Given the description of an element on the screen output the (x, y) to click on. 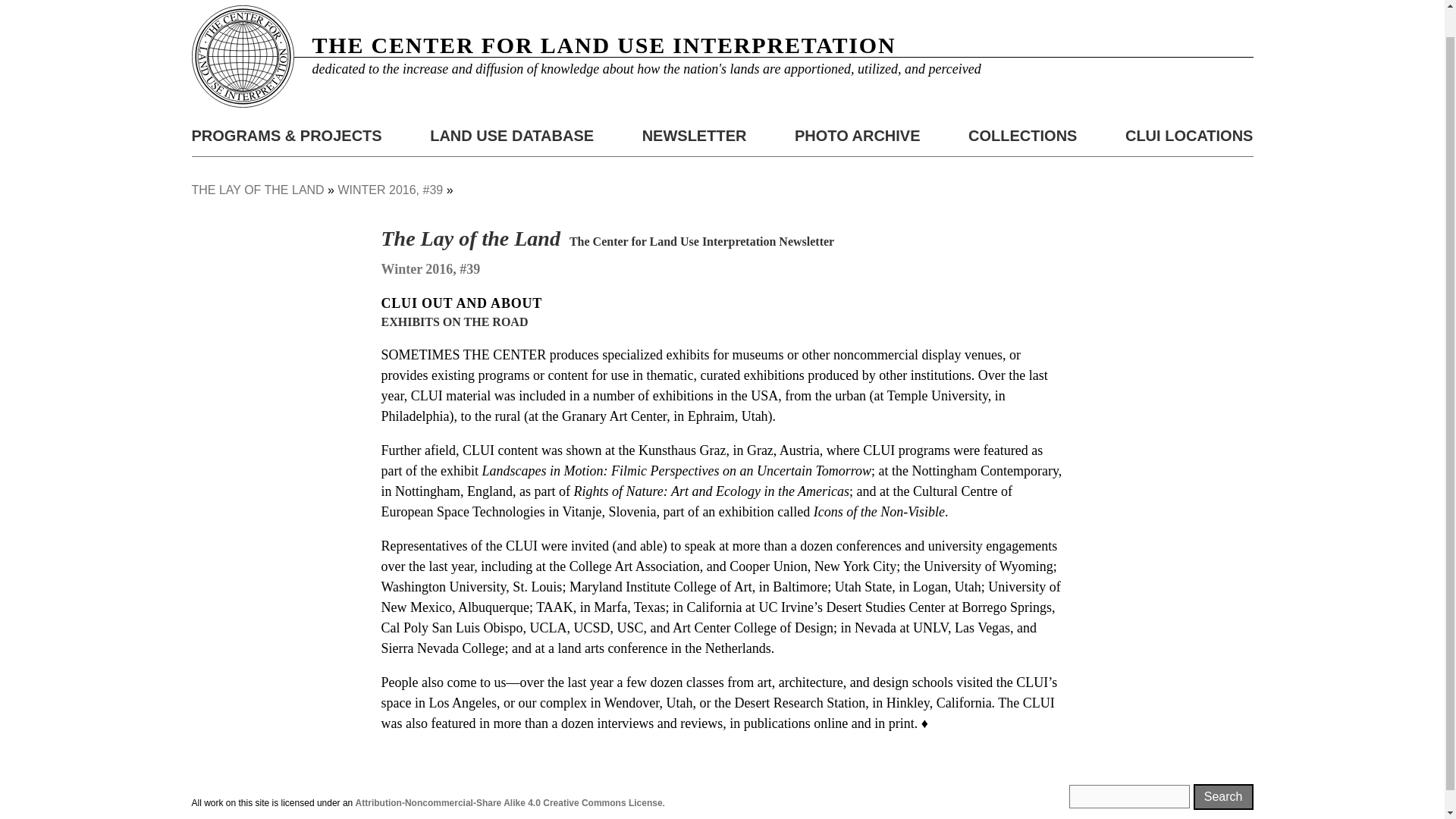
LAND USE DATABASE (511, 135)
Enter the terms you wish to search for. (1128, 796)
THE CENTER FOR LAND USE INTERPRETATION (604, 44)
THE LAY OF THE LAND (256, 189)
NEWSLETTER (694, 135)
Search (1223, 796)
COLLECTIONS (1022, 135)
CLUI LOCATIONS (1189, 135)
Search (1223, 796)
